Given the description of an element on the screen output the (x, y) to click on. 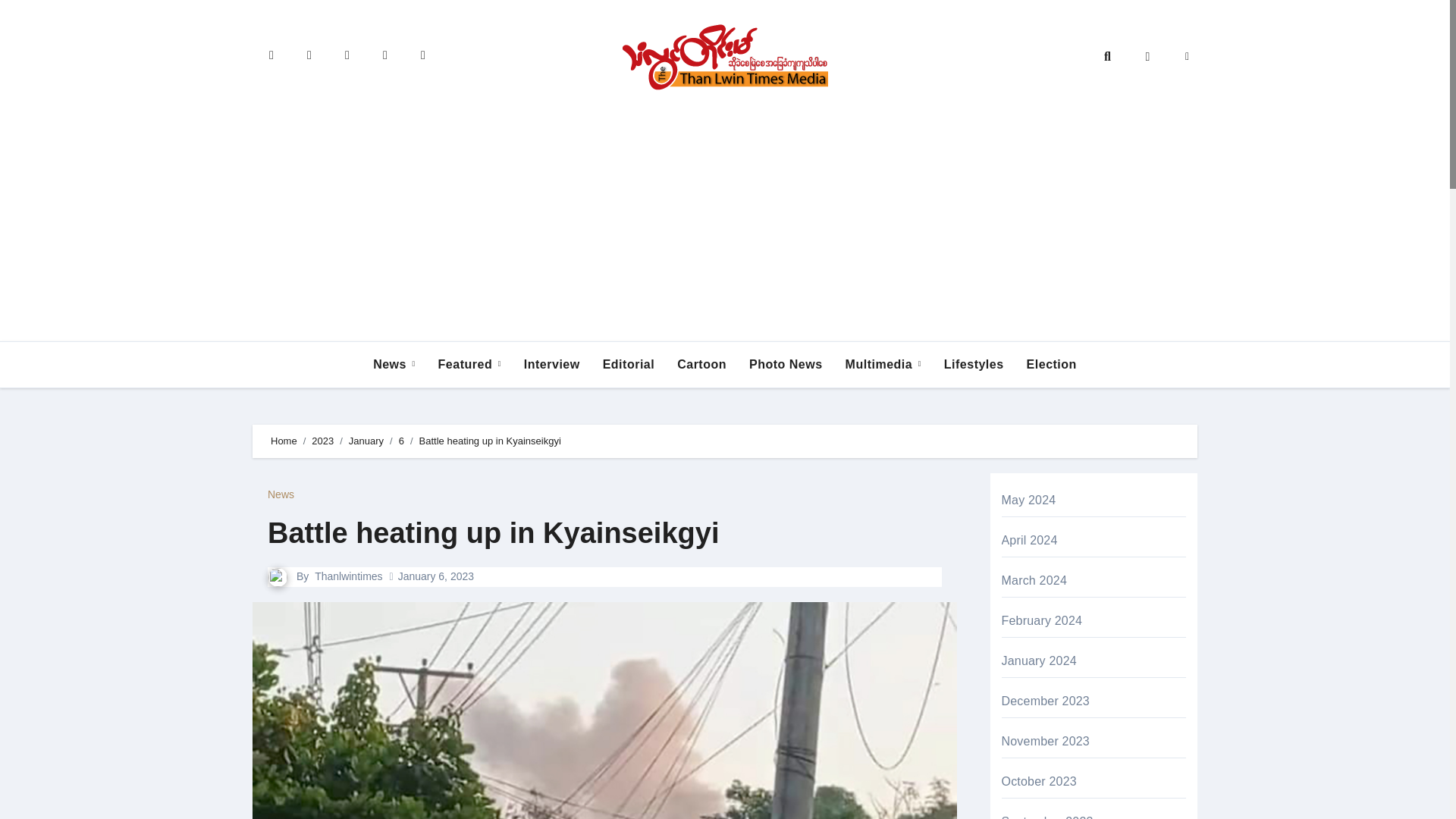
News (393, 364)
Home (283, 440)
News (280, 493)
Editorial (628, 364)
Featured (469, 364)
Featured (469, 364)
Cartoon (701, 364)
2023 (322, 440)
Photo News (786, 364)
Battle heating up in Kyainseikgyi (493, 532)
January (366, 440)
Multimedia (883, 364)
Interview (551, 364)
6 (401, 440)
